Given the description of an element on the screen output the (x, y) to click on. 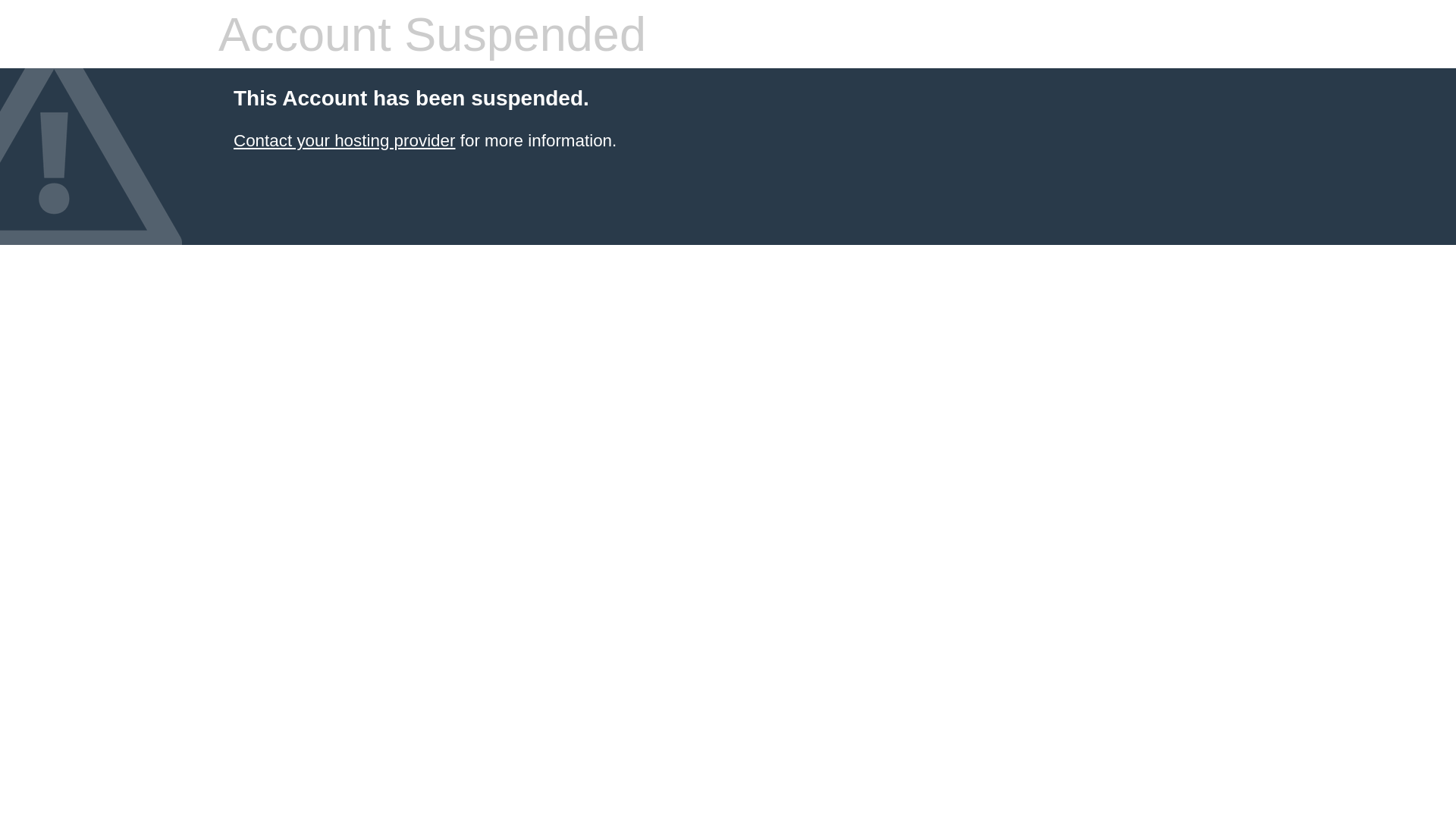
Contact your hosting provider Element type: text (344, 140)
